Given the description of an element on the screen output the (x, y) to click on. 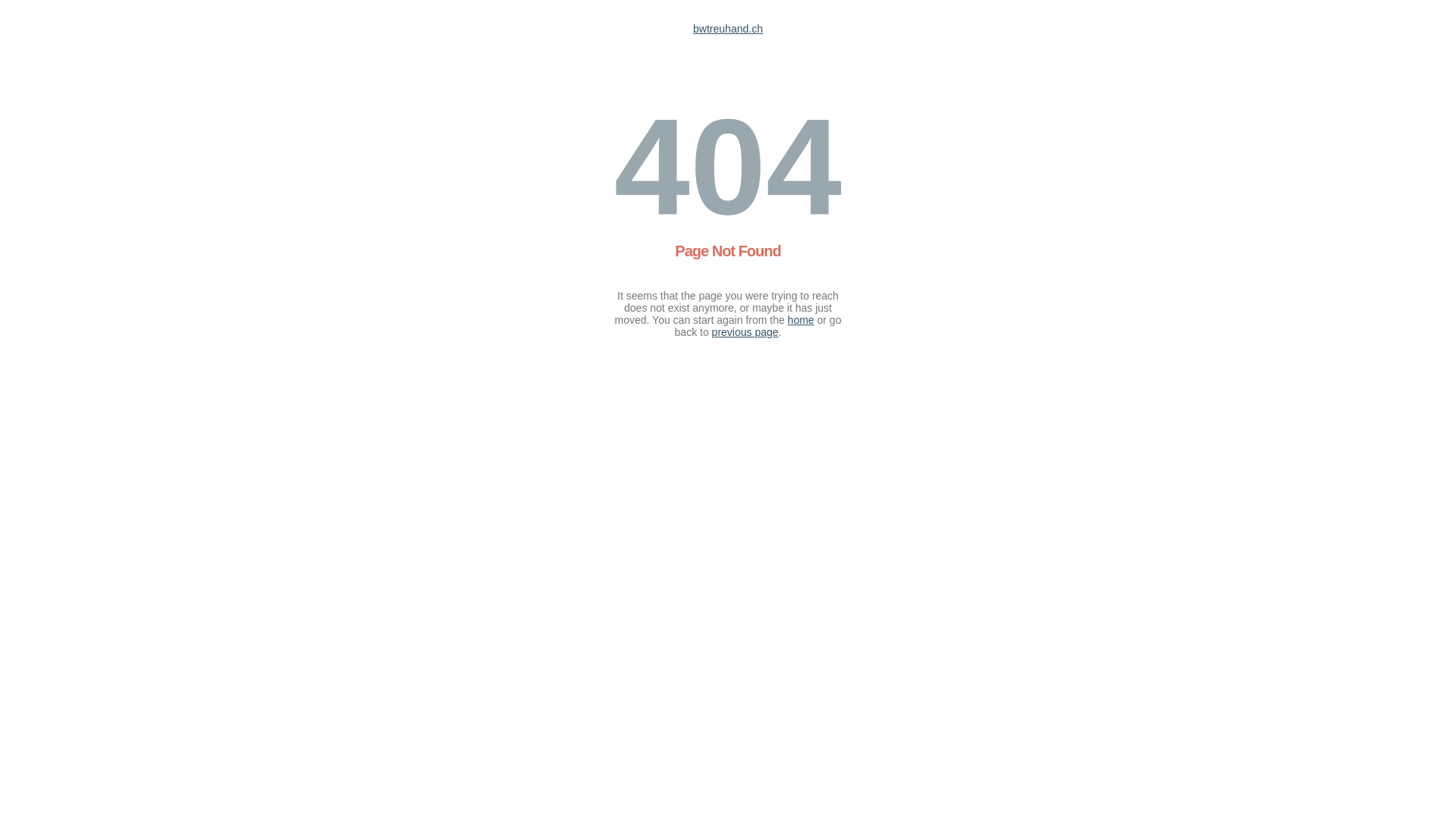
previous page Element type: text (745, 332)
home Element type: text (800, 319)
bwtreuhand.ch Element type: text (727, 28)
